Given the description of an element on the screen output the (x, y) to click on. 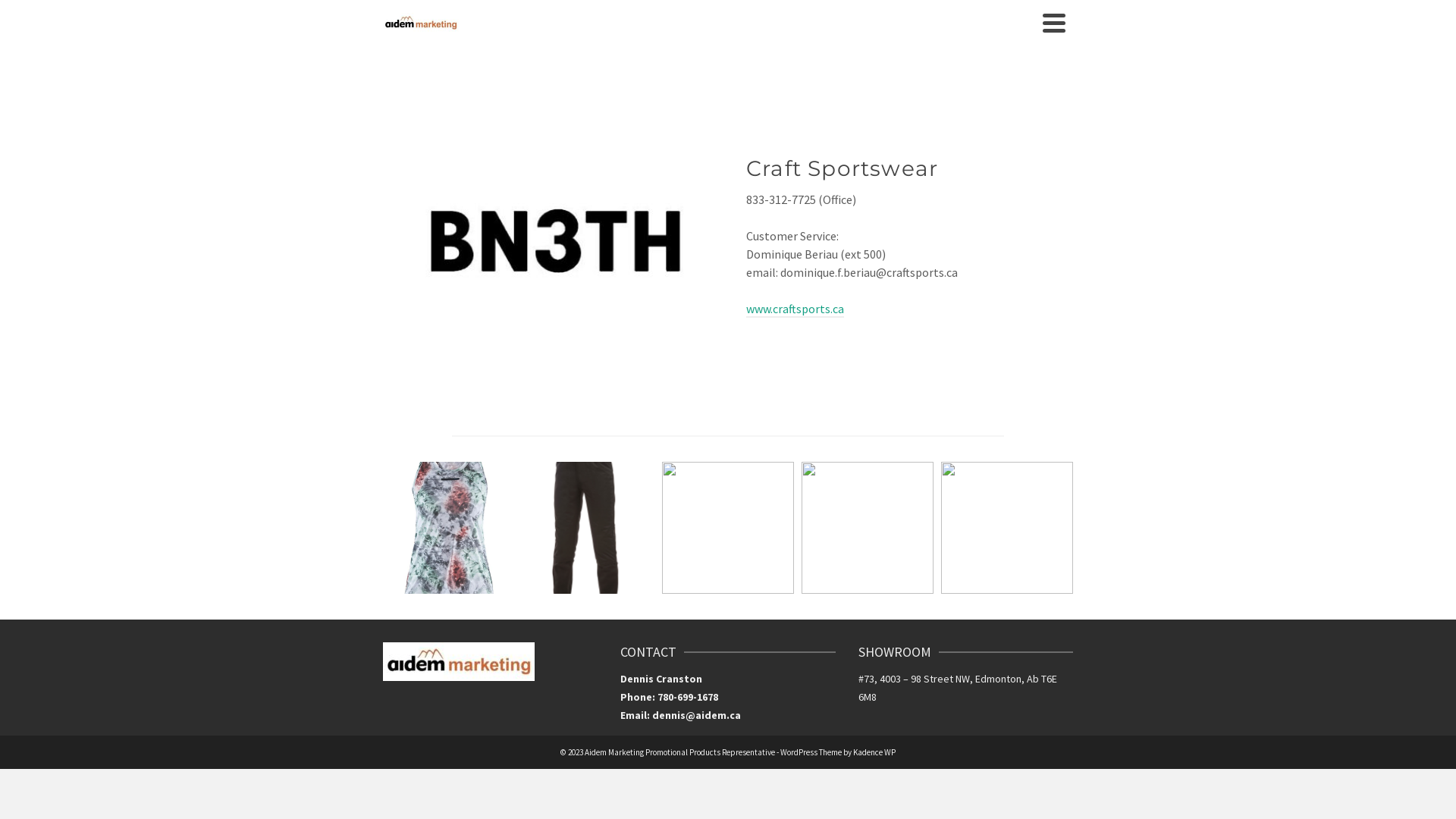
www.craftsports.ca Element type: text (795, 309)
dennis@aidem.ca Element type: text (696, 714)
Kadence WP Element type: text (874, 751)
